Given the description of an element on the screen output the (x, y) to click on. 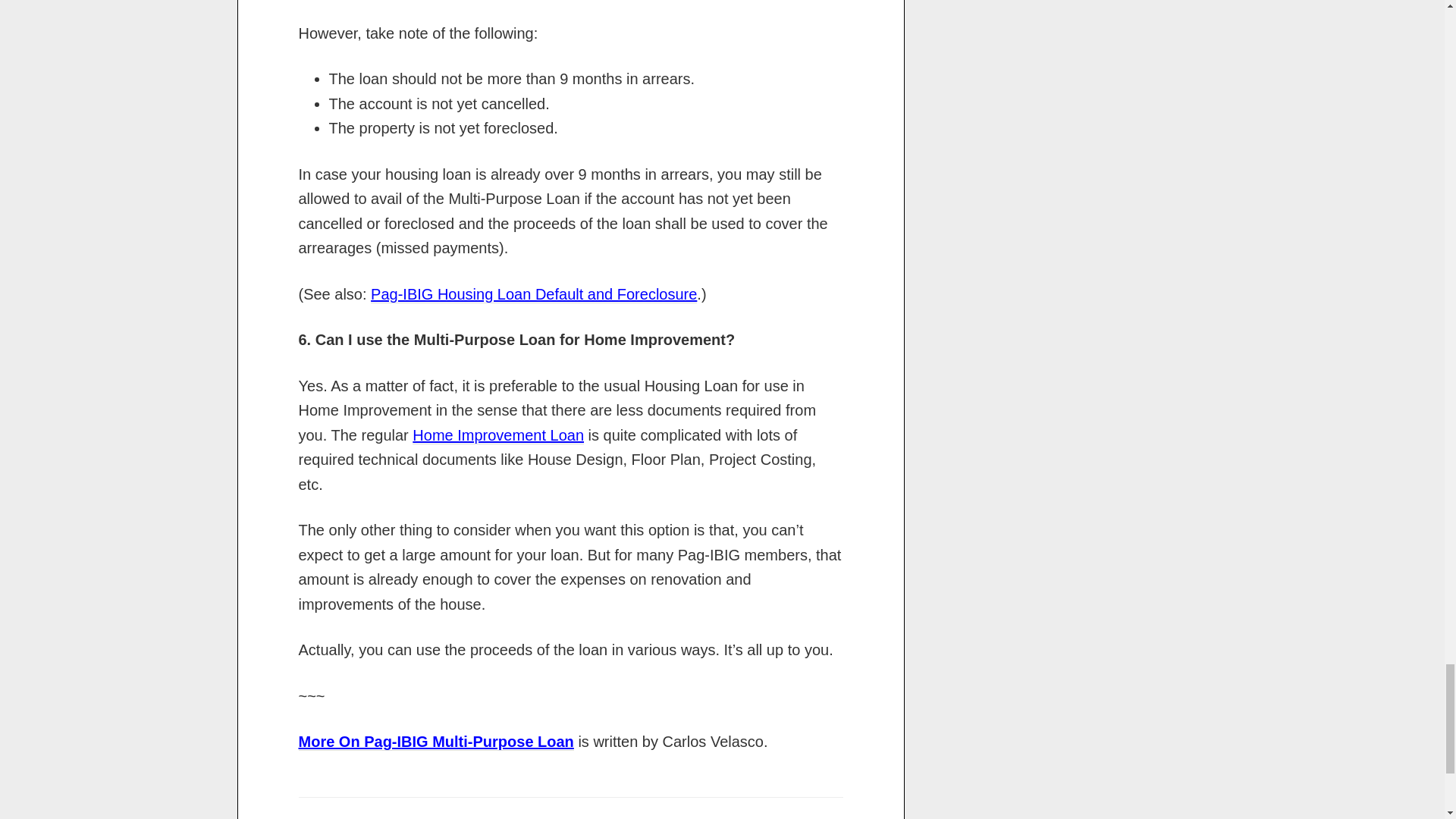
Pag-IBIG Housing Loan Default and Foreclosure (534, 294)
More On Pag-IBIG Multi-Purpose Loan (435, 742)
Home Improvement Loan (497, 435)
